Given the description of an element on the screen output the (x, y) to click on. 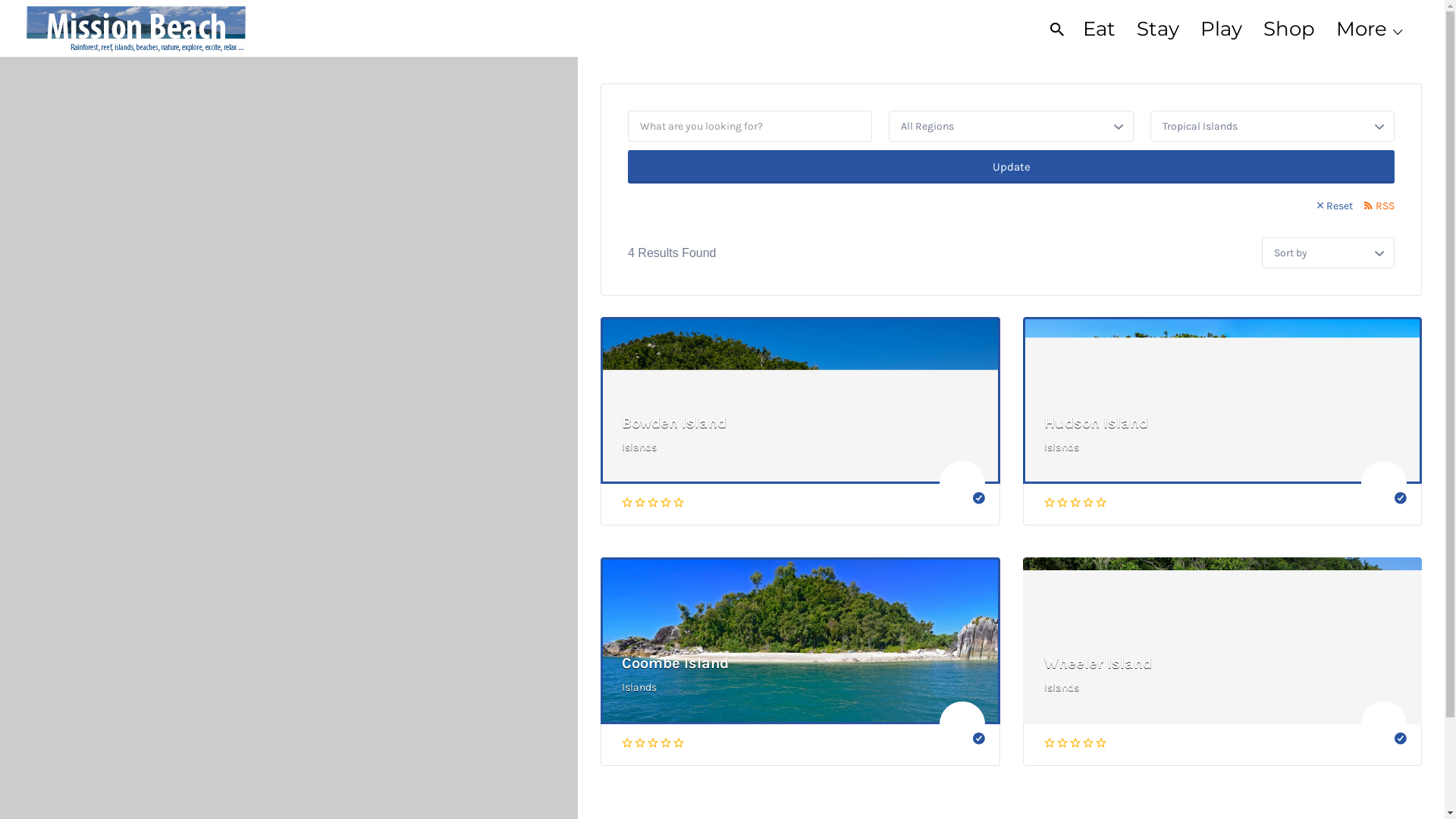
Eat Element type: text (1098, 28)
Shop Element type: text (1288, 28)
Update Element type: text (1010, 166)
Play Element type: text (1221, 28)
More Element type: text (1361, 28)
Stay Element type: text (1157, 28)
RSS Element type: text (1379, 205)
Reset Element type: text (1334, 205)
Tropical Islands Element type: text (1272, 125)
All Regions Element type: text (1010, 125)
